Given the description of an element on the screen output the (x, y) to click on. 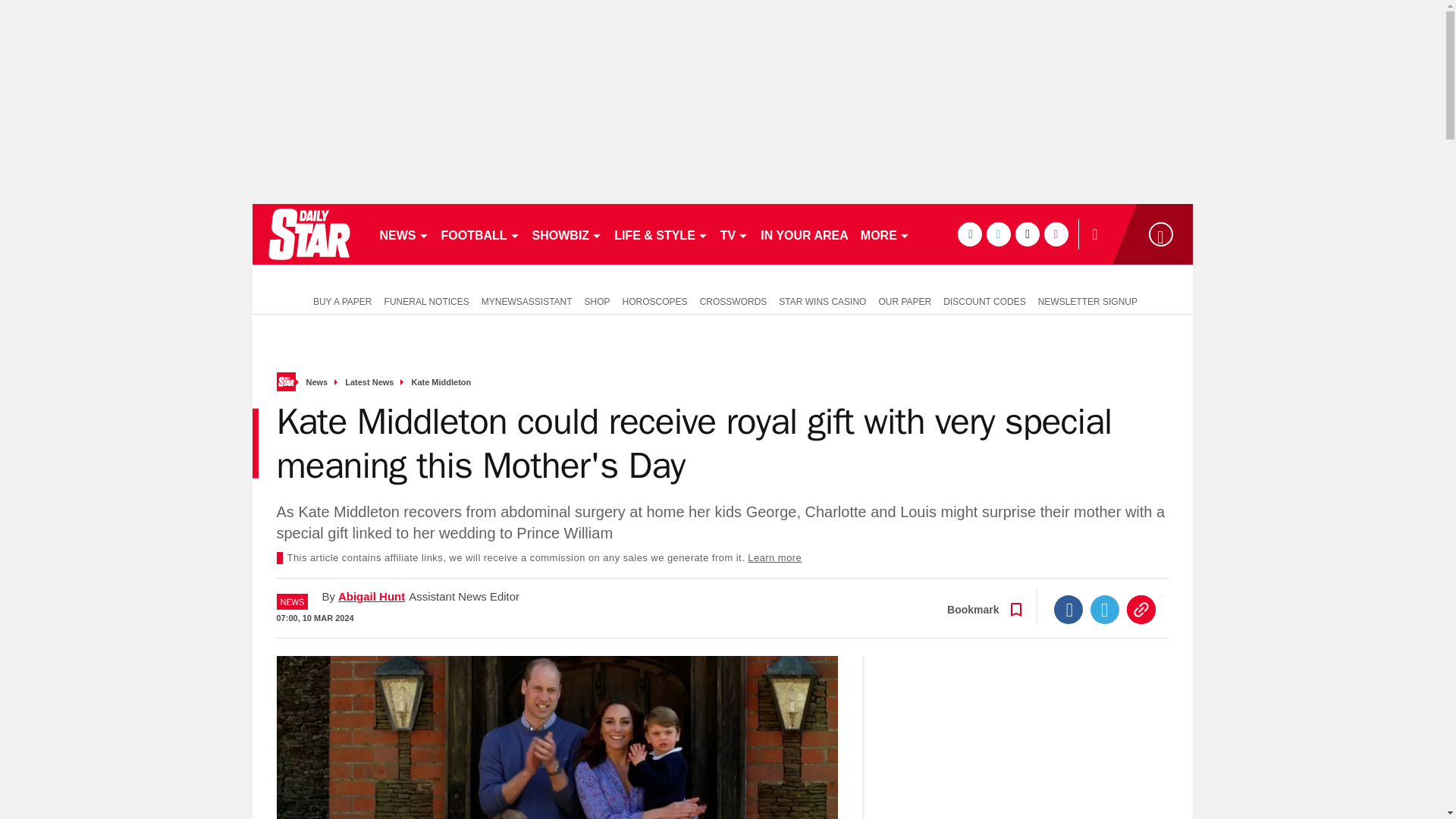
twitter (997, 233)
instagram (1055, 233)
NEWS (402, 233)
FOOTBALL (480, 233)
SHOWBIZ (566, 233)
facebook (968, 233)
dailystar (308, 233)
Facebook (1068, 609)
tiktok (1026, 233)
Twitter (1104, 609)
